Given the description of an element on the screen output the (x, y) to click on. 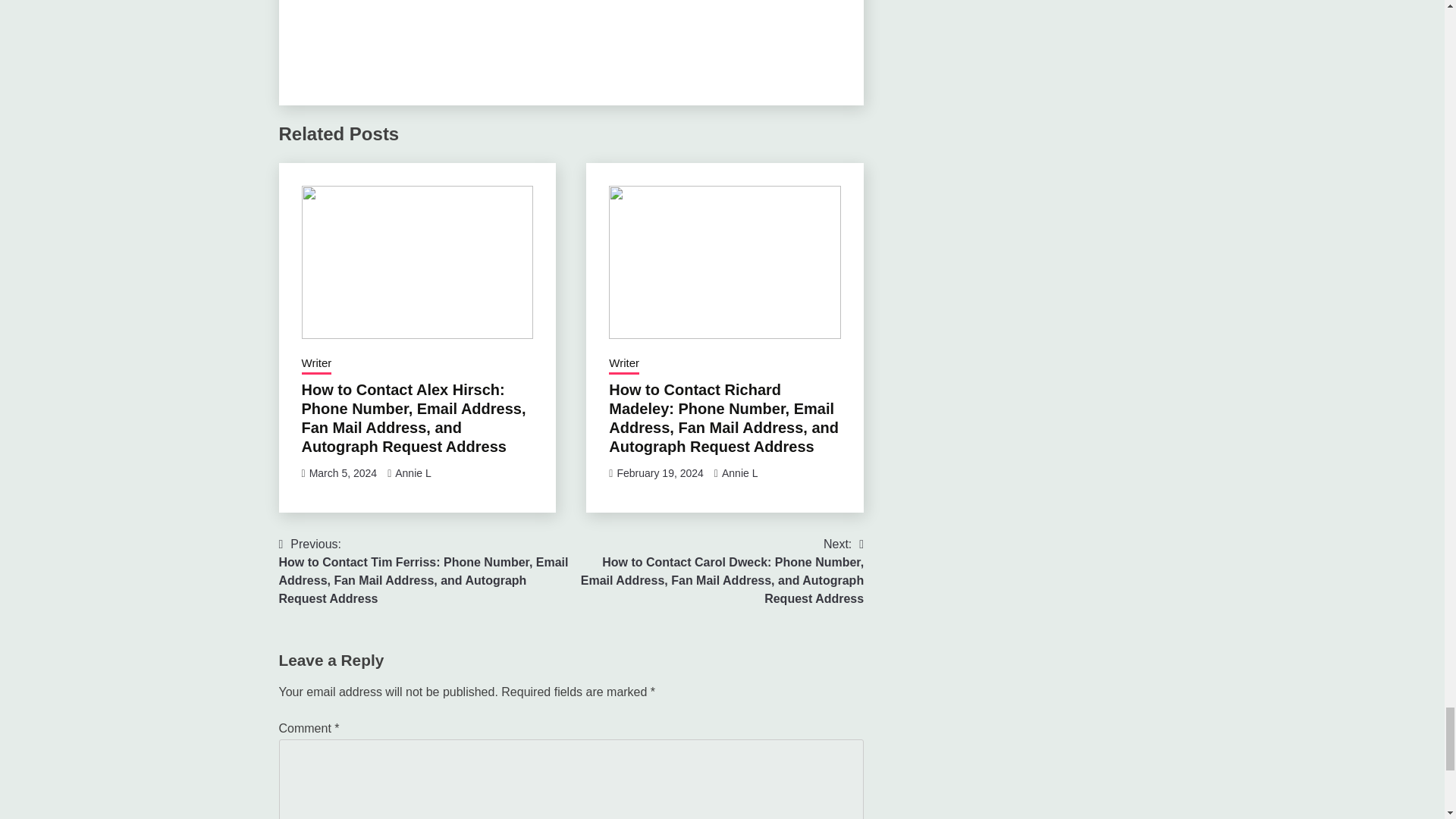
March 5, 2024 (342, 472)
YouTube video player (570, 38)
Writer (316, 364)
Annie L (412, 472)
Writer (623, 364)
February 19, 2024 (659, 472)
Annie L (739, 472)
